Given the description of an element on the screen output the (x, y) to click on. 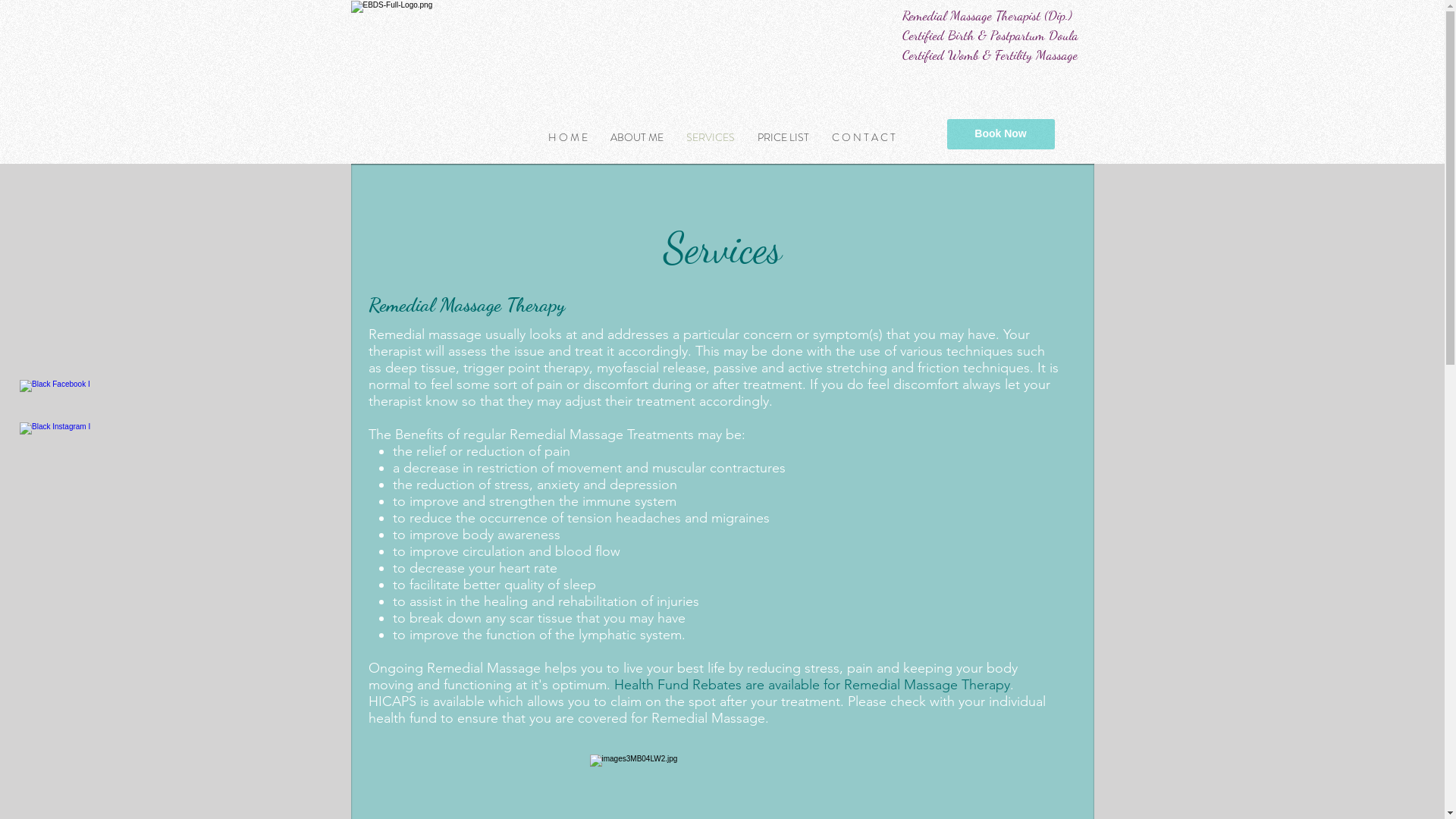
ABOUT ME Element type: text (636, 137)
Book Now Element type: text (1000, 134)
H O M E Element type: text (567, 137)
PRICE LIST Element type: text (783, 137)
C O N T A C T Element type: text (863, 137)
SERVICES Element type: text (710, 137)
